Given the description of an element on the screen output the (x, y) to click on. 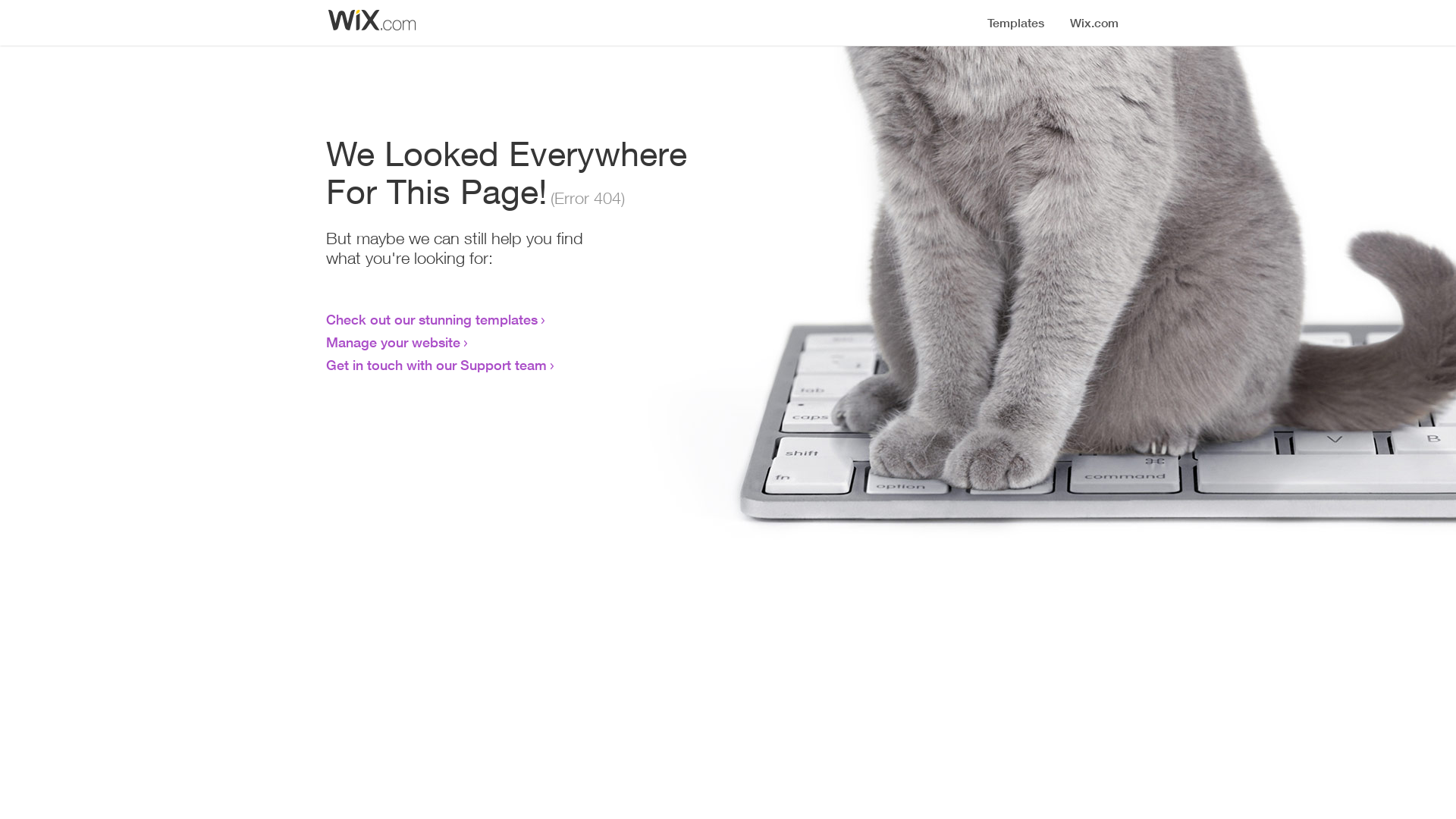
Get in touch with our Support team Element type: text (436, 364)
Manage your website Element type: text (393, 341)
Check out our stunning templates Element type: text (431, 318)
